Given the description of an element on the screen output the (x, y) to click on. 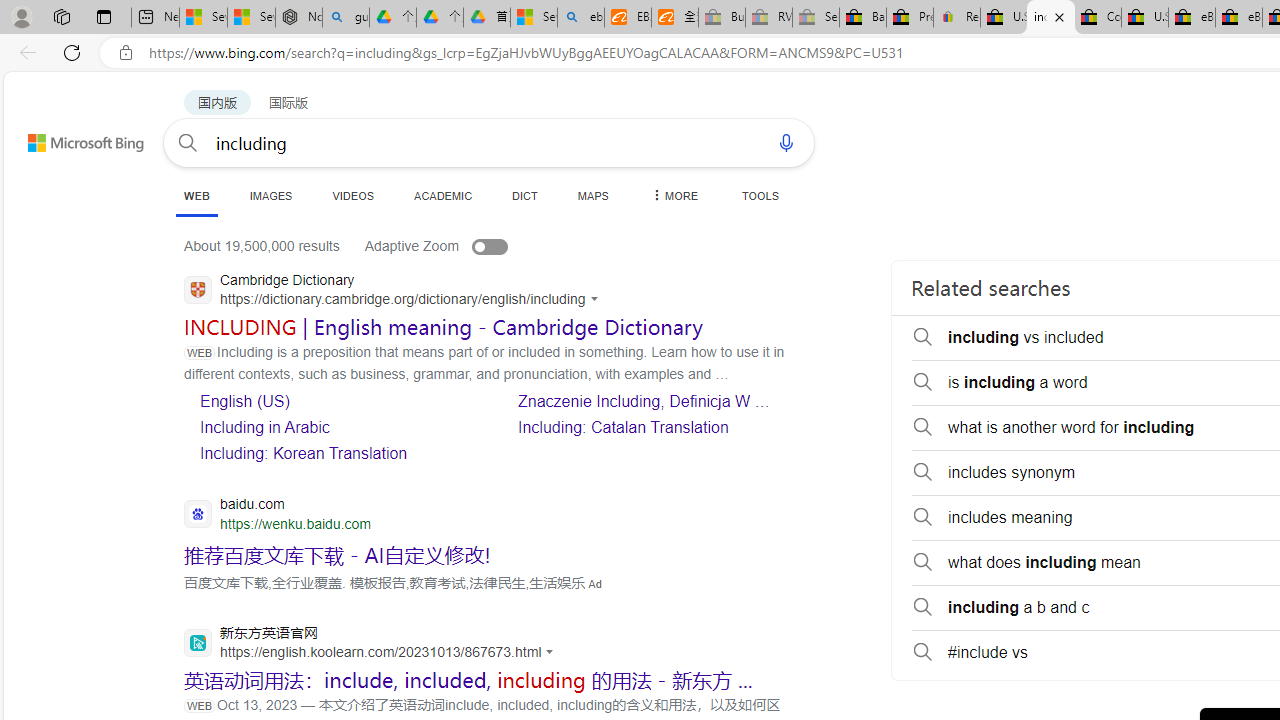
guge yunpan - Search (345, 17)
WEB (196, 196)
Dropdown Menu (673, 195)
English (US) (336, 400)
MAPS (592, 195)
MAPS (592, 195)
DICT (525, 195)
